Given the description of an element on the screen output the (x, y) to click on. 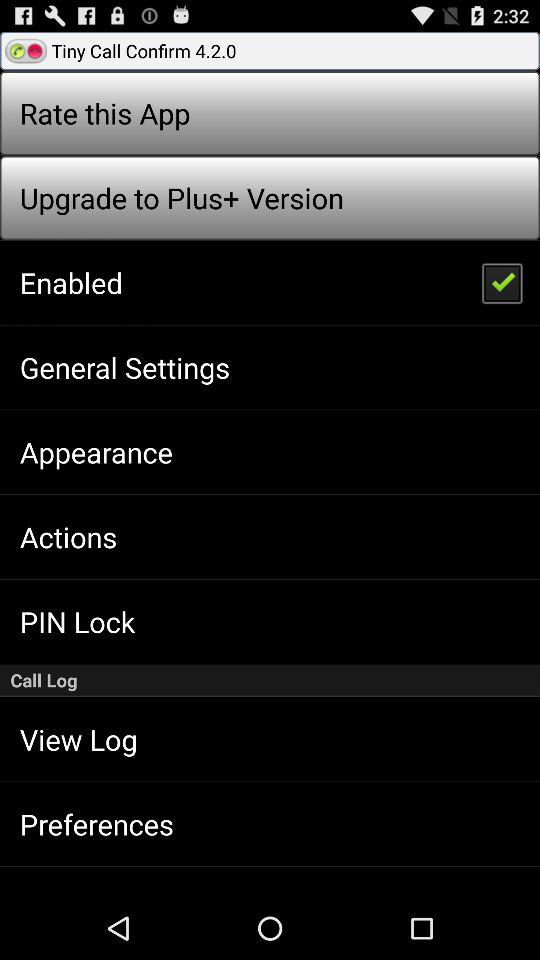
scroll until the call log item (270, 680)
